Given the description of an element on the screen output the (x, y) to click on. 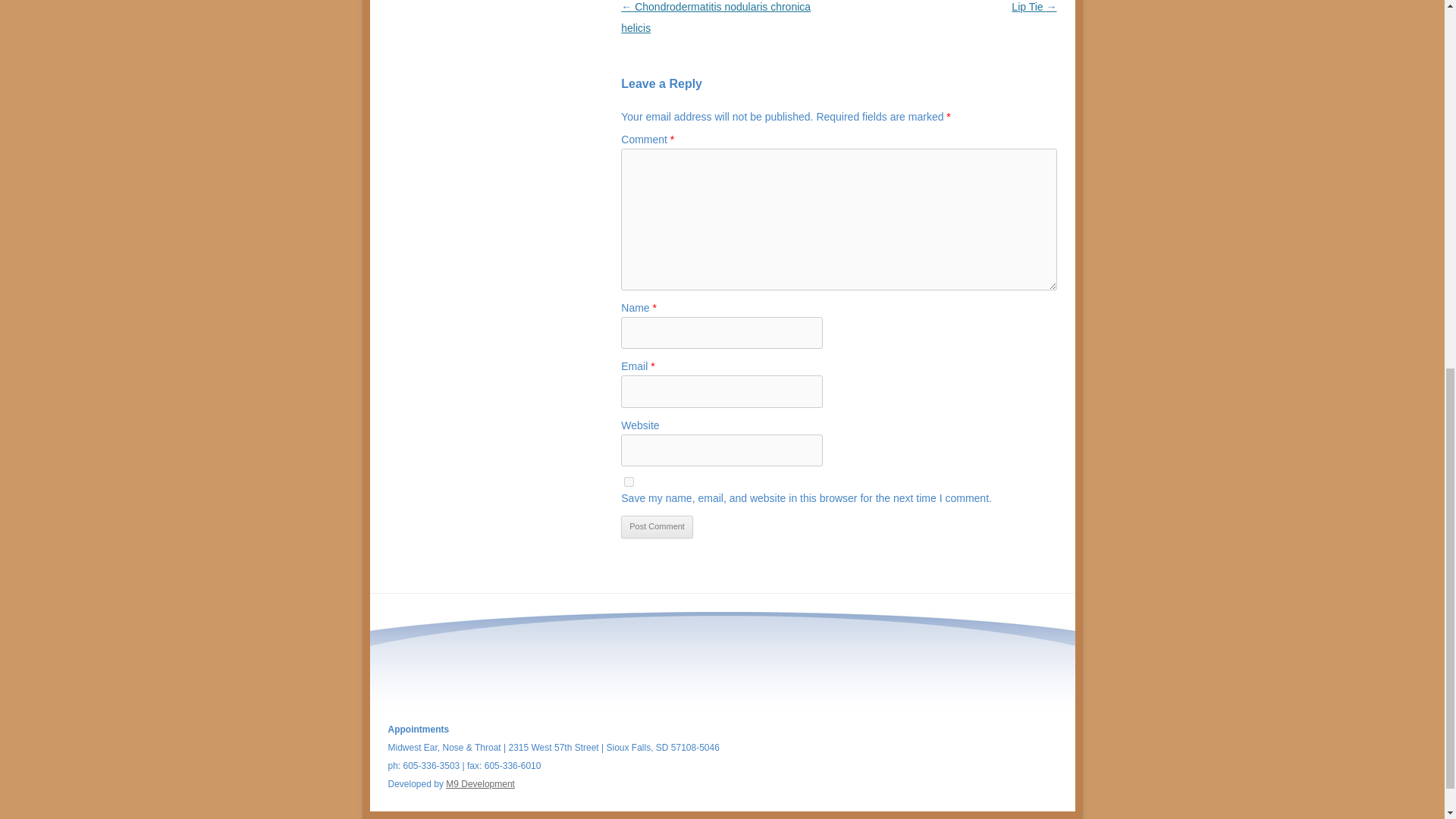
yes (628, 481)
Post Comment (657, 526)
Post Comment (657, 526)
M9 Development (480, 783)
